Given the description of an element on the screen output the (x, y) to click on. 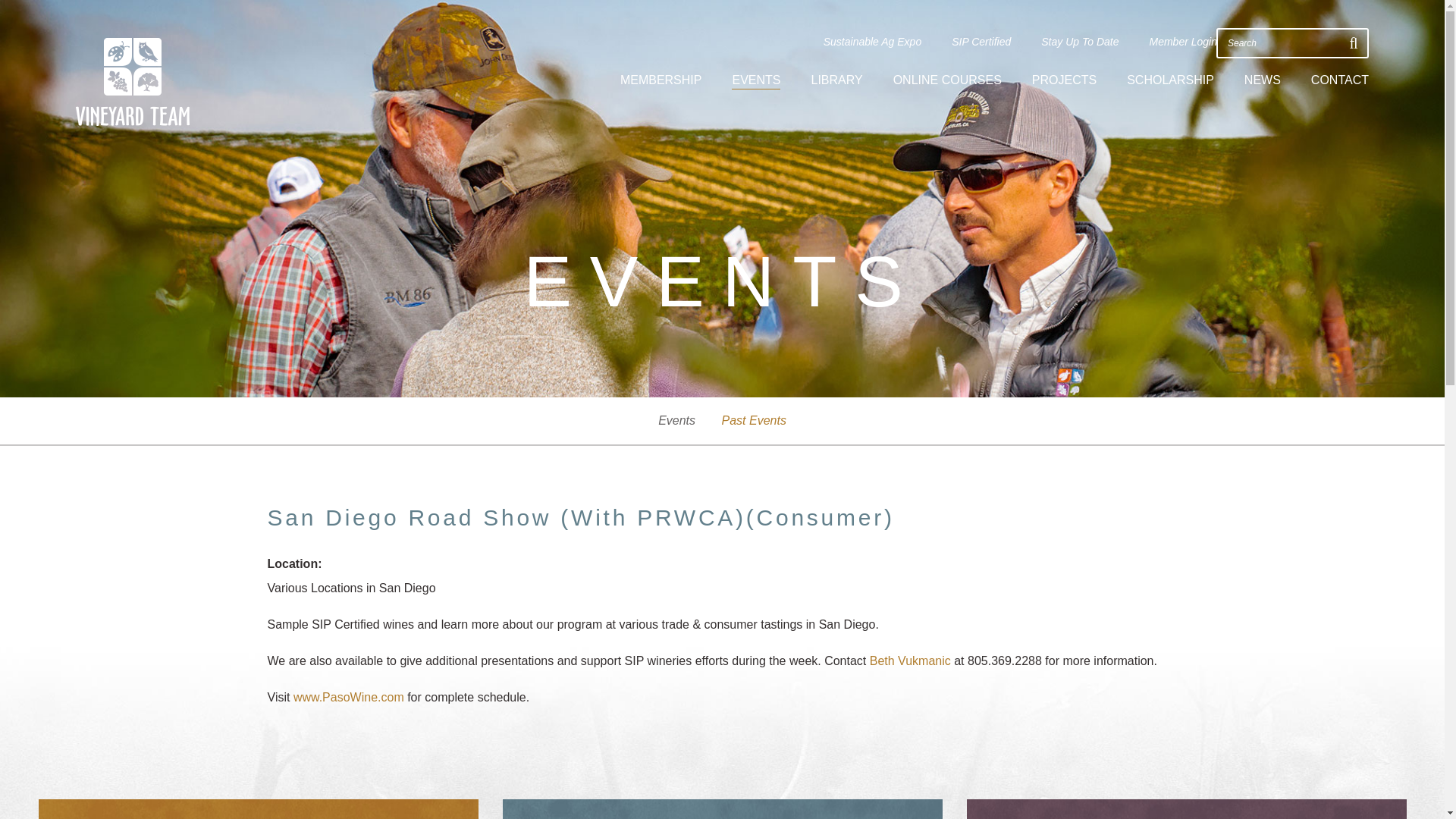
NEWS (1262, 80)
SCHOLARSHIP (1170, 80)
www.PasoWine.com (349, 697)
Events (676, 420)
Search (1282, 42)
Member Login (1183, 42)
MEMBERSHIP (660, 80)
Sustainable Ag Expo (872, 42)
Stay Up To Date (1079, 42)
EVENTS (756, 81)
Past Events (754, 420)
ONLINE COURSES (947, 80)
CONTACT (1339, 80)
SIP Certified (981, 42)
Beth Vukmanic (909, 660)
